Given the description of an element on the screen output the (x, y) to click on. 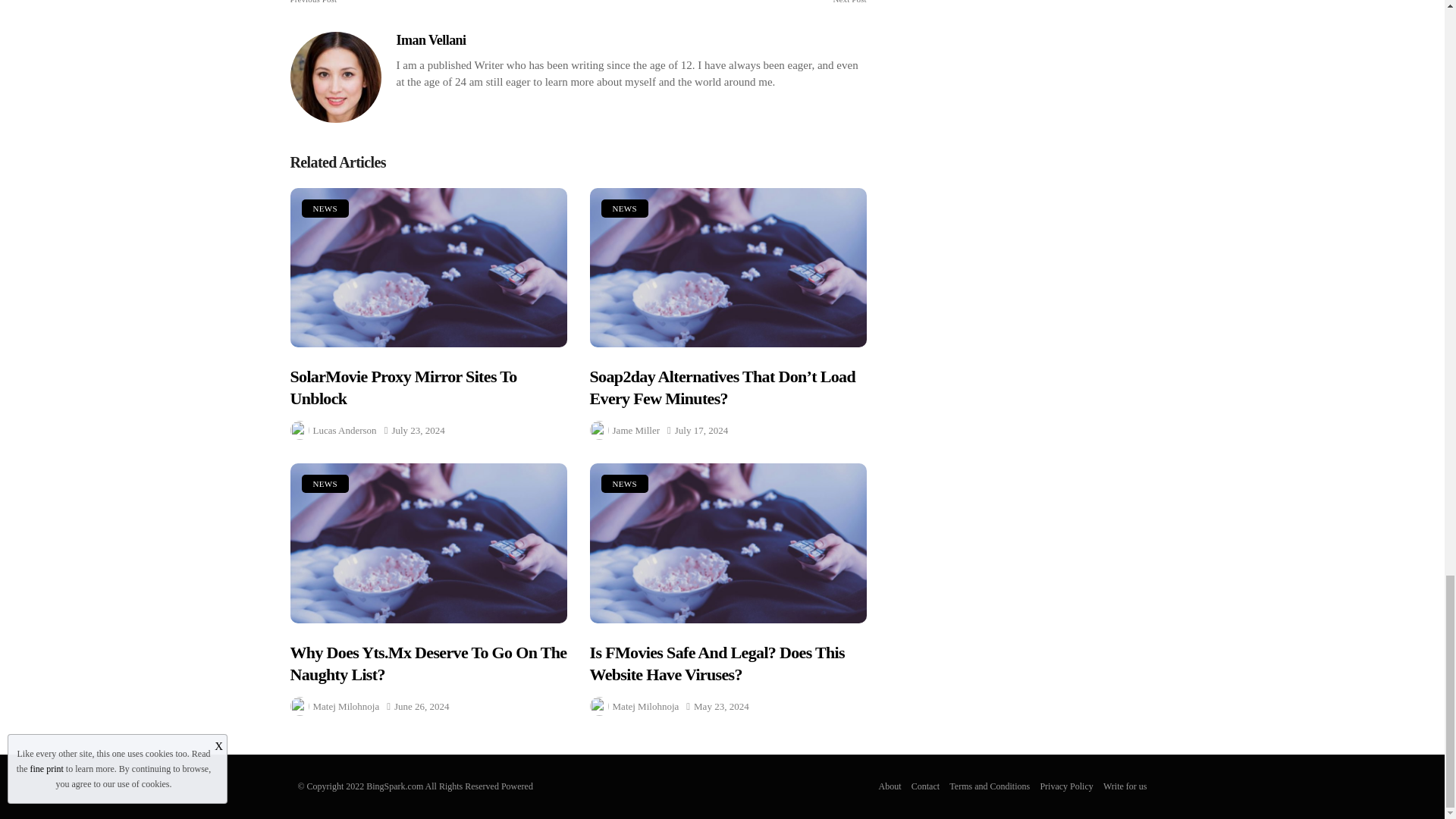
Iman Vellani (430, 39)
SolarMovie Proxy Mirror Sites To Unblock (427, 268)
Is FMovies Safe and Legal? Does This Website Have Viruses? (727, 543)
Posts by Matej Milohnoja (345, 705)
Why does yts.mx deserve to go on the naughty list? (427, 543)
Posts by Lucas Anderson (344, 429)
Posts by Jame Miller (635, 429)
Posts by Matej Milohnoja (645, 705)
